Given the description of an element on the screen output the (x, y) to click on. 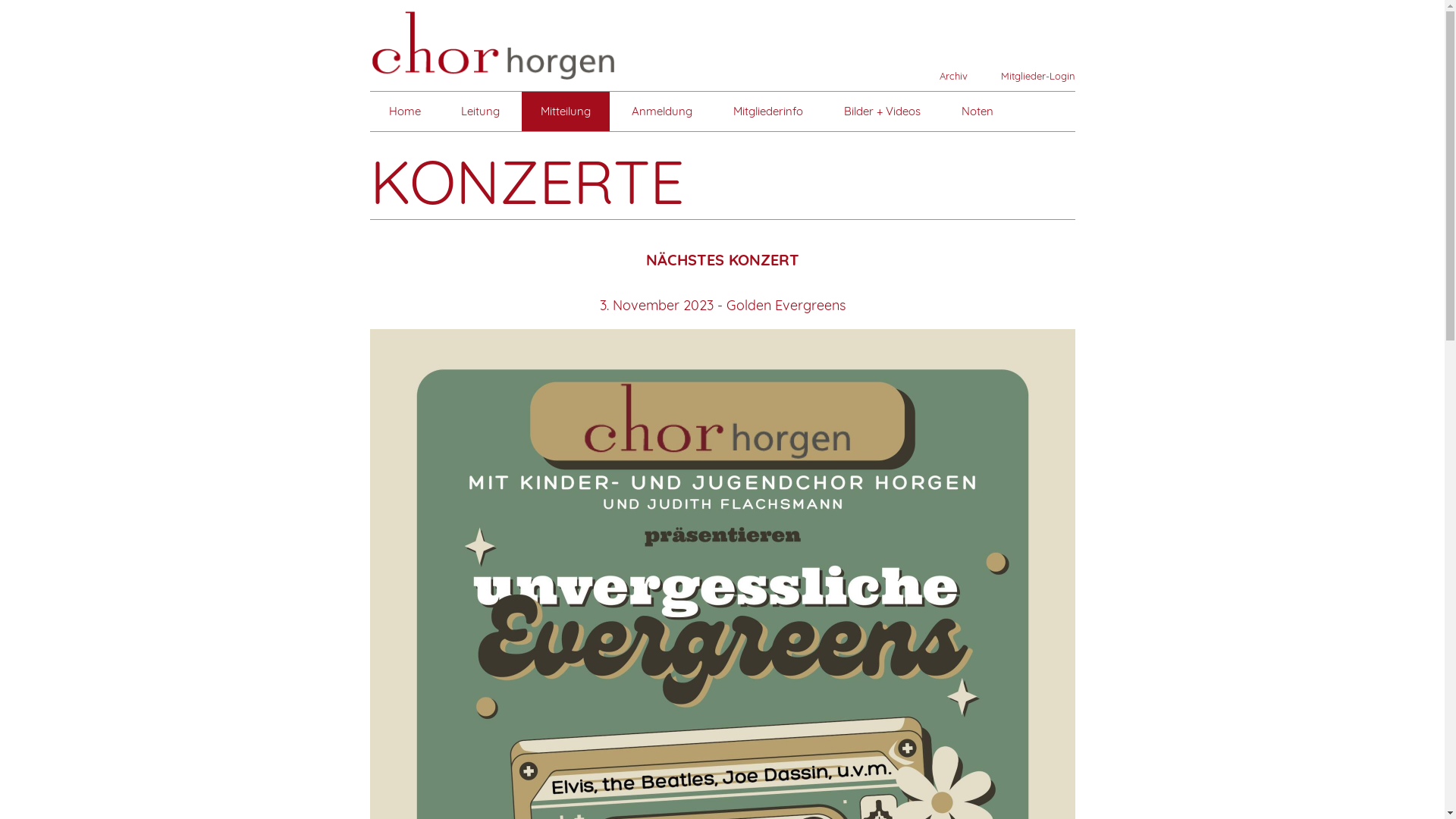
Mitgliederinfo Element type: text (768, 111)
Leitung Element type: text (480, 111)
Mitglieder-Login Element type: text (1030, 76)
Mitteilung Element type: text (565, 111)
Archiv Element type: text (945, 76)
Bilder + Videos Element type: text (882, 111)
Noten Element type: text (977, 111)
Anmeldung Element type: text (661, 111)
Home Element type: text (404, 111)
